Given the description of an element on the screen output the (x, y) to click on. 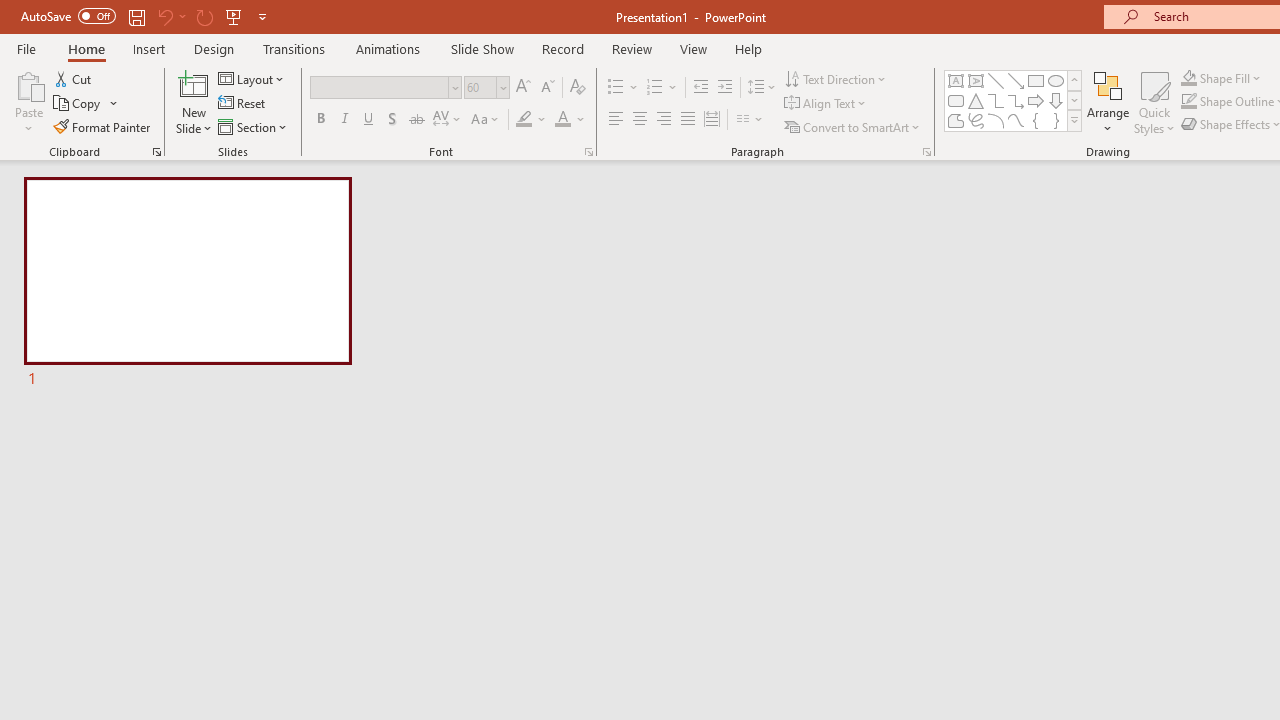
Character Spacing (447, 119)
Connector: Elbow Arrow (1016, 100)
Curve (1016, 120)
Freeform: Scribble (975, 120)
Insert (149, 48)
Oval (1055, 80)
Transitions (294, 48)
Text Box (955, 80)
Bold (320, 119)
Rectangle: Rounded Corners (955, 100)
Right Brace (1055, 120)
Quick Access Toolbar (145, 16)
Align Right (663, 119)
